Given the description of an element on the screen output the (x, y) to click on. 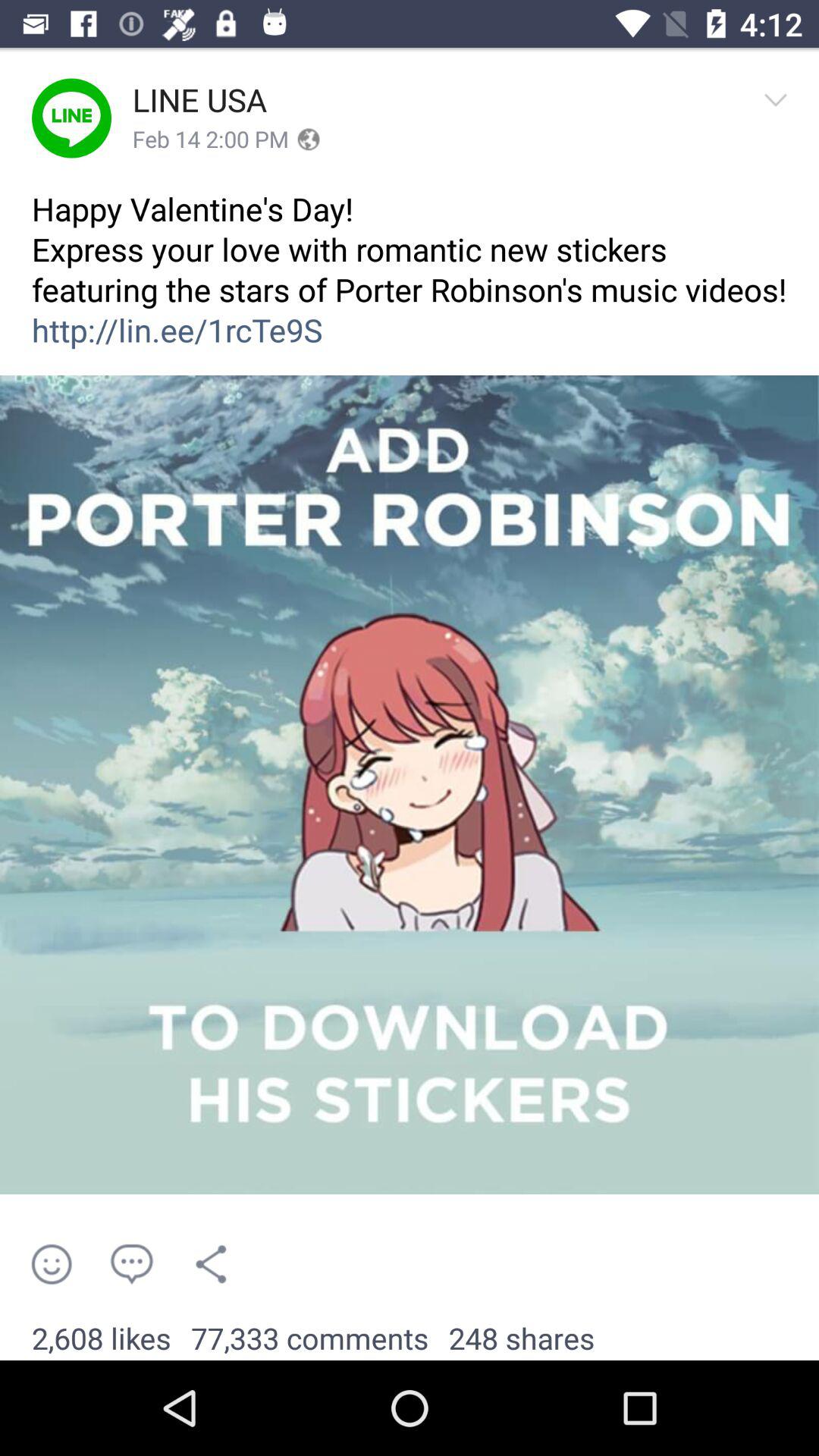
tap 2,608 likes item (101, 1339)
